Given the description of an element on the screen output the (x, y) to click on. 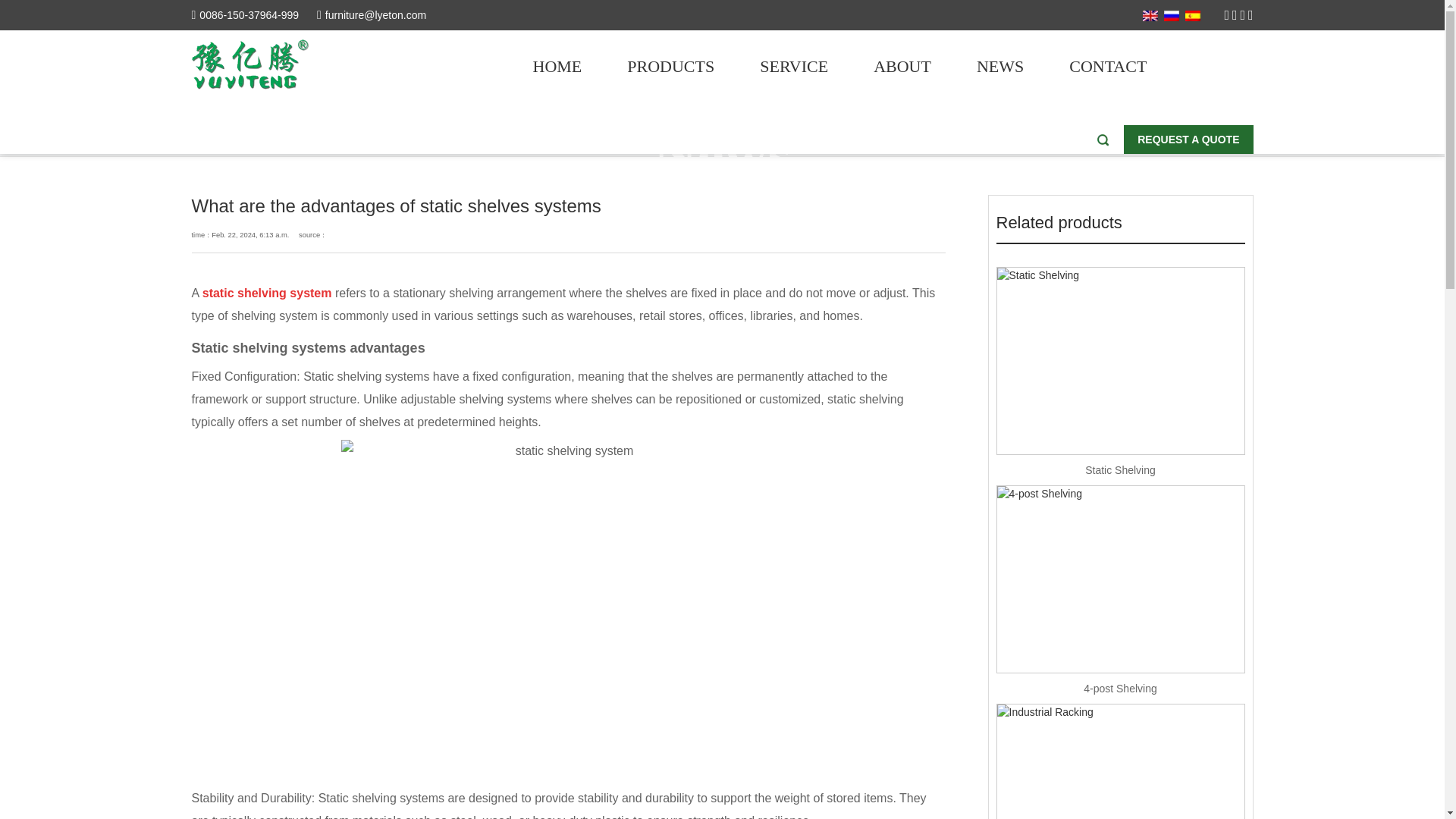
HOME (556, 66)
es (1192, 15)
CONTACT (1107, 66)
PRODUCTS (670, 66)
ABOUT (901, 66)
Mobile Storage Systems and Space Saving Solutions (254, 64)
Mobile Storage Systems and Space Saving Solutions (248, 64)
ru (1171, 15)
ru (1171, 15)
SERVICE (793, 66)
